Given the description of an element on the screen output the (x, y) to click on. 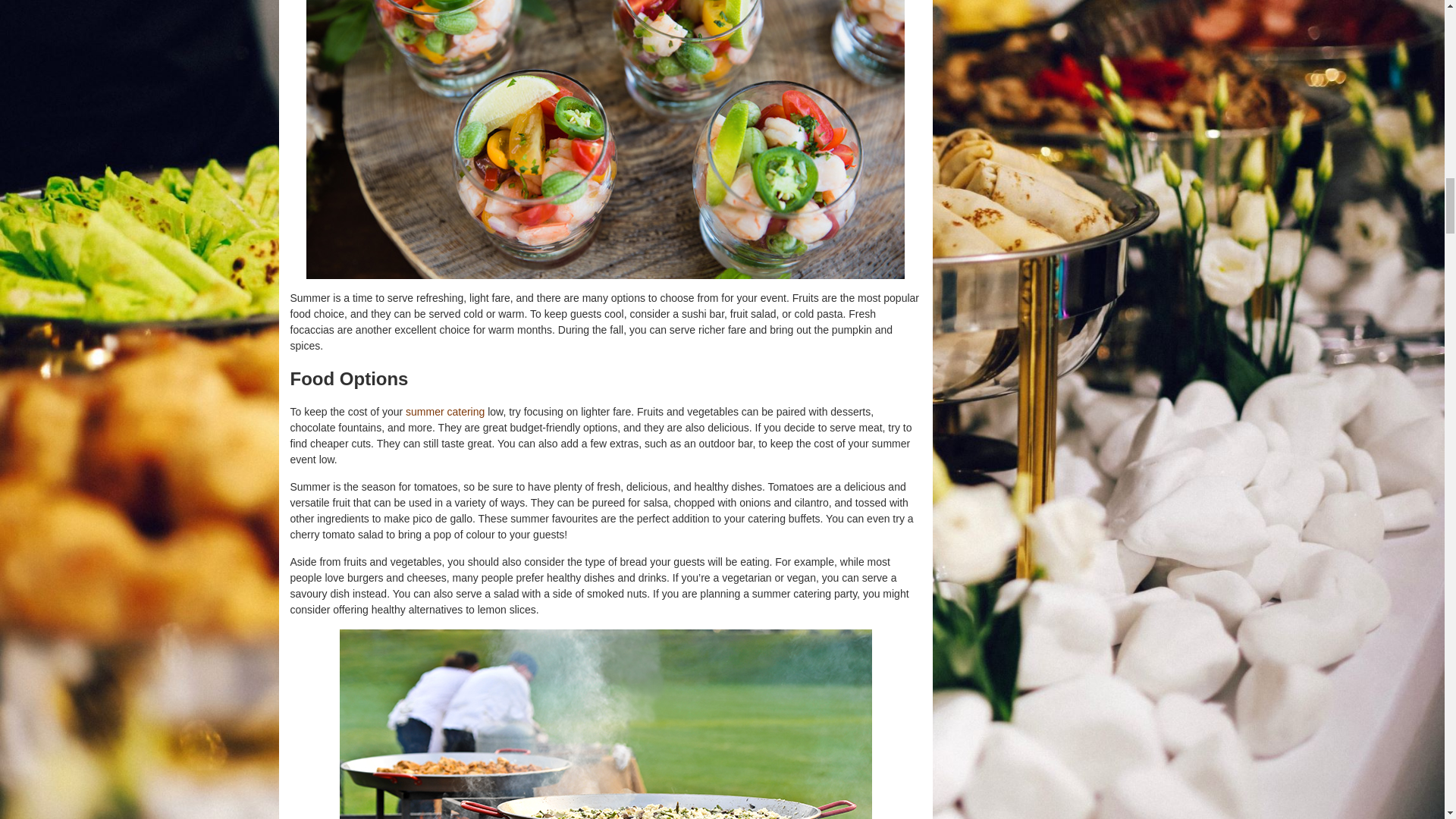
summer catering (445, 411)
